Given the description of an element on the screen output the (x, y) to click on. 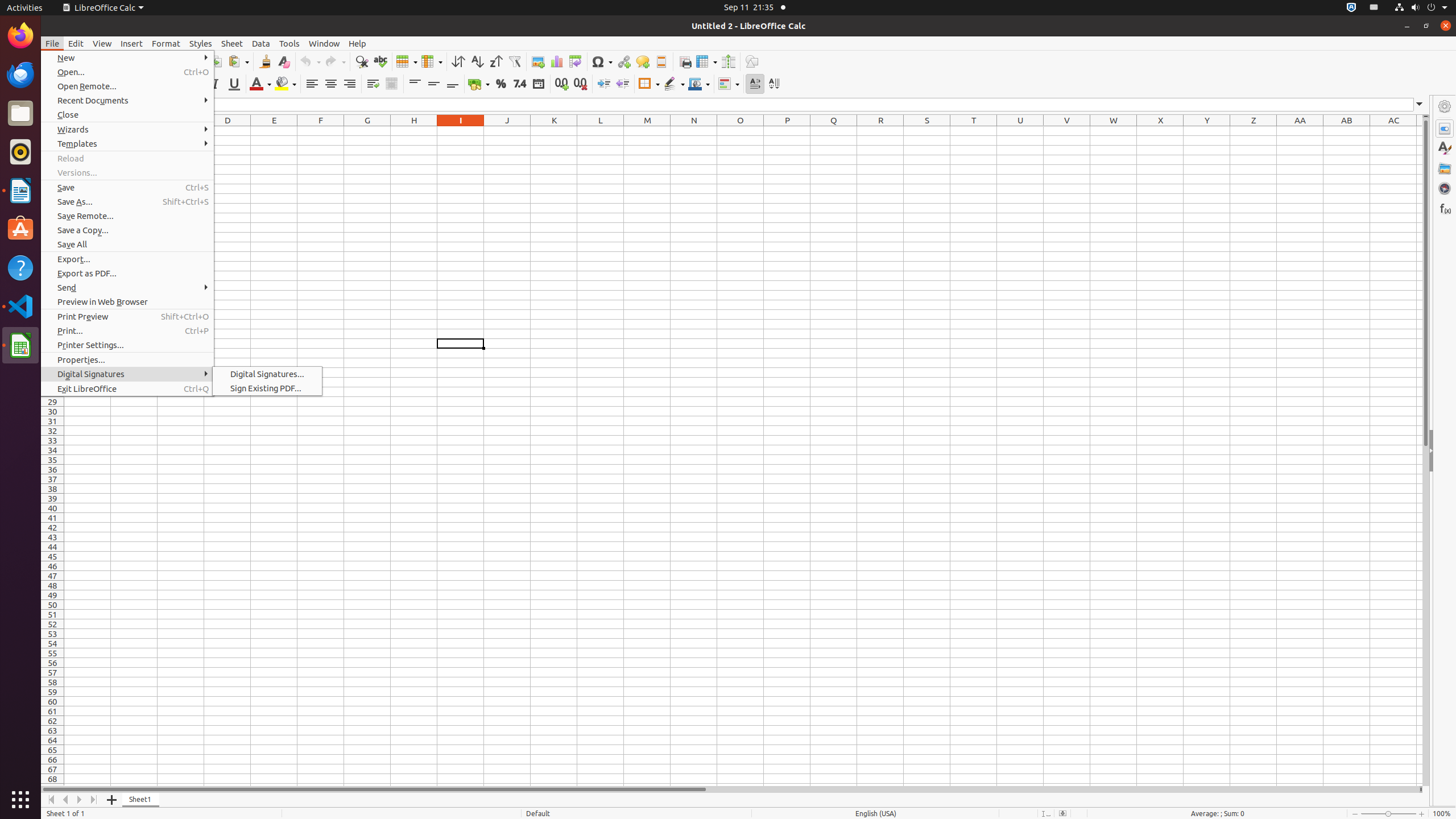
Headers and Footers Element type: push-button (660, 61)
I1 Element type: table-cell (460, 130)
AutoFilter Element type: push-button (514, 61)
Pivot Table Element type: push-button (574, 61)
Export... Element type: menu-item (126, 258)
